Given the description of an element on the screen output the (x, y) to click on. 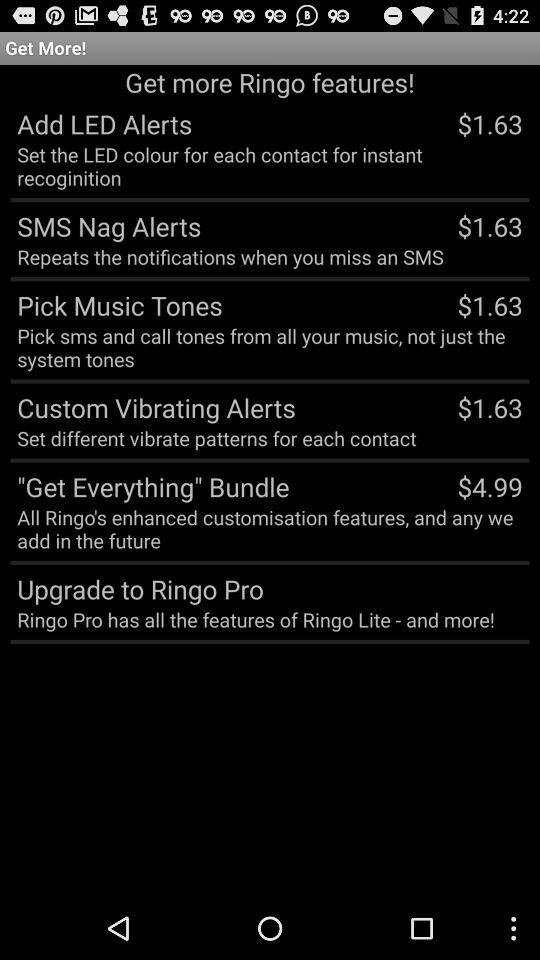
jump until the set different vibrate item (216, 437)
